Given the description of an element on the screen output the (x, y) to click on. 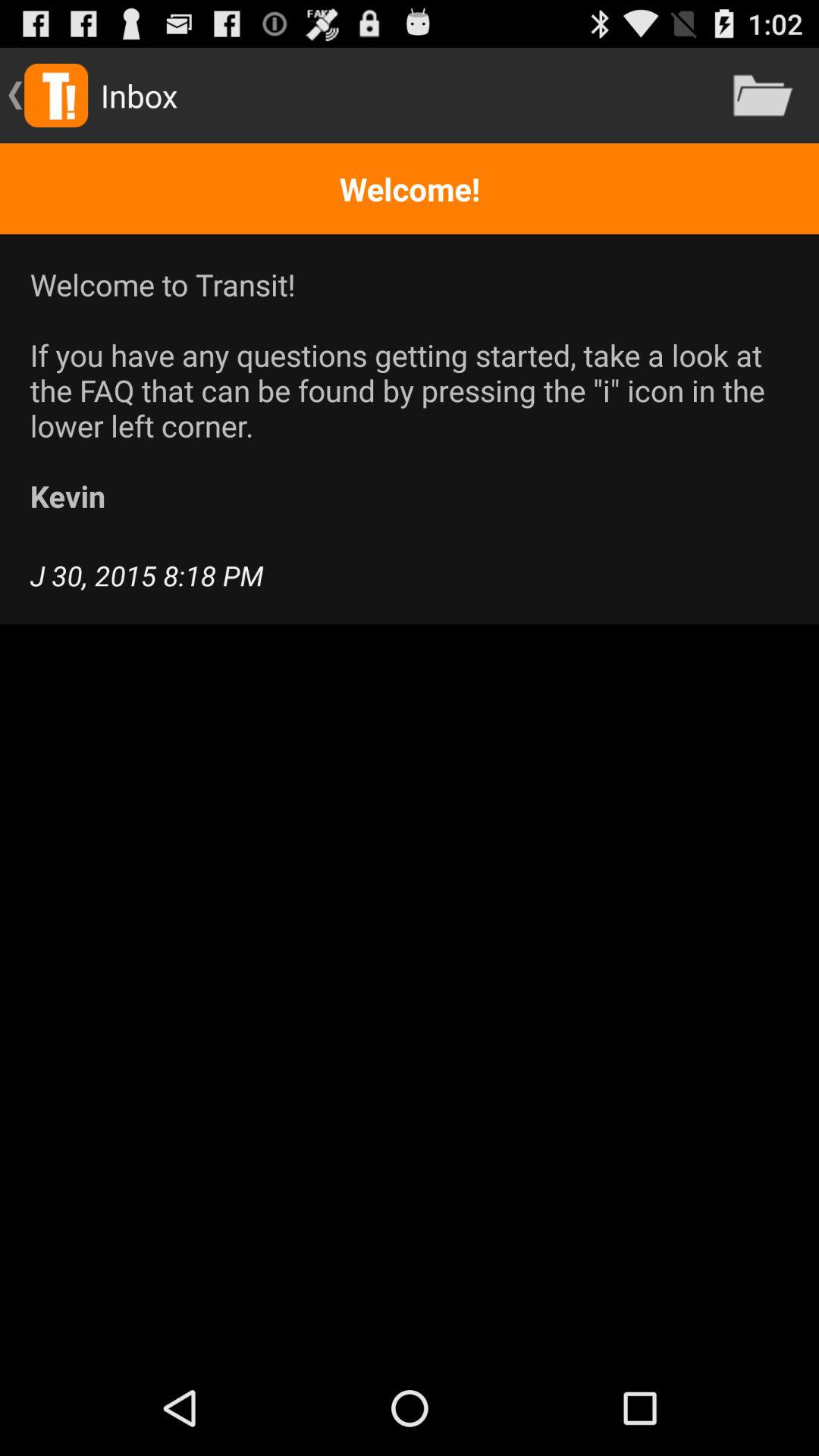
turn on the welcome to transit icon (409, 390)
